Given the description of an element on the screen output the (x, y) to click on. 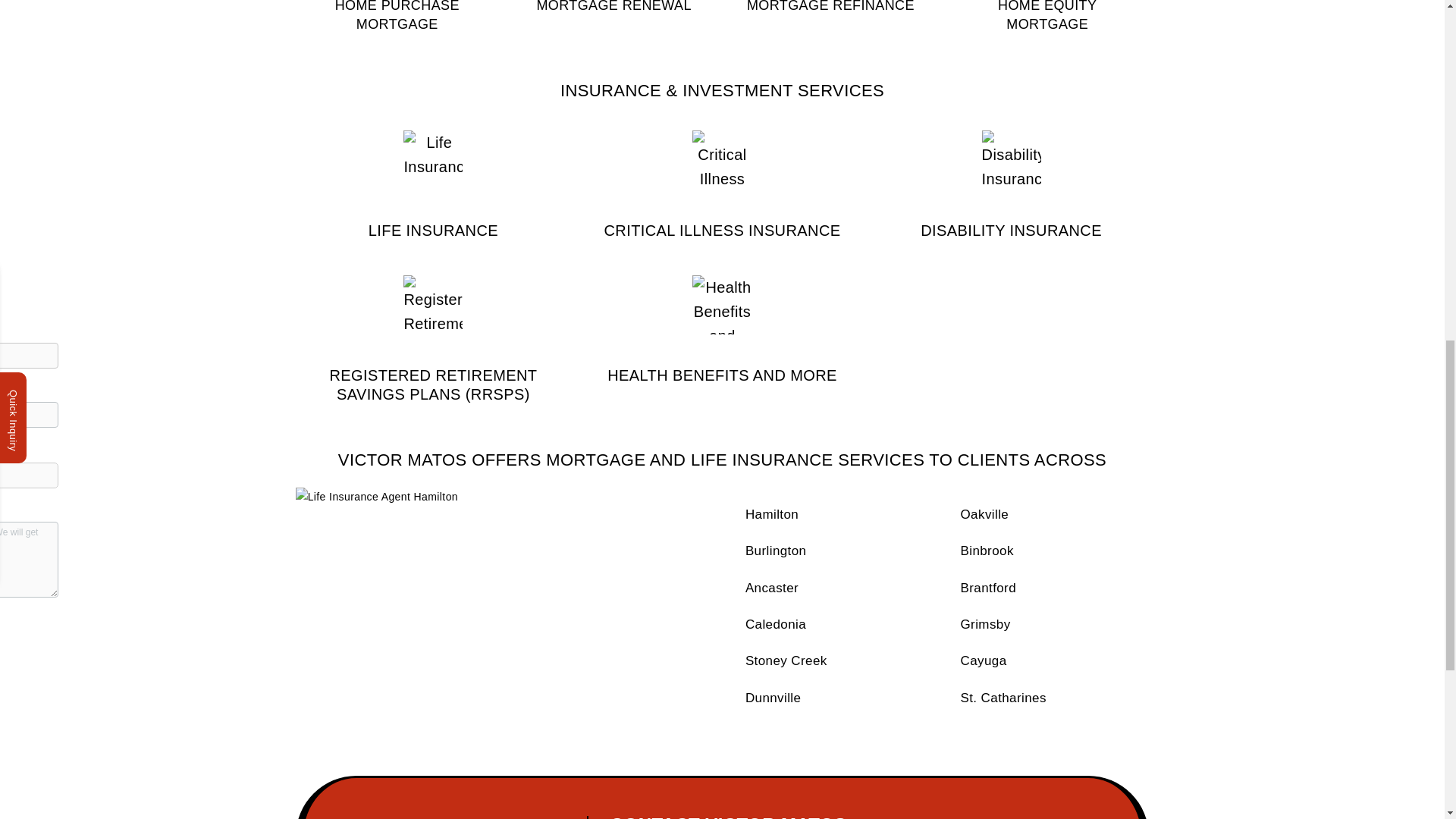
MORTGAGE RENEWAL (613, 7)
HOME PURCHASE MORTGAGE (397, 17)
MORTGAGE REFINANCE (830, 7)
